Given the description of an element on the screen output the (x, y) to click on. 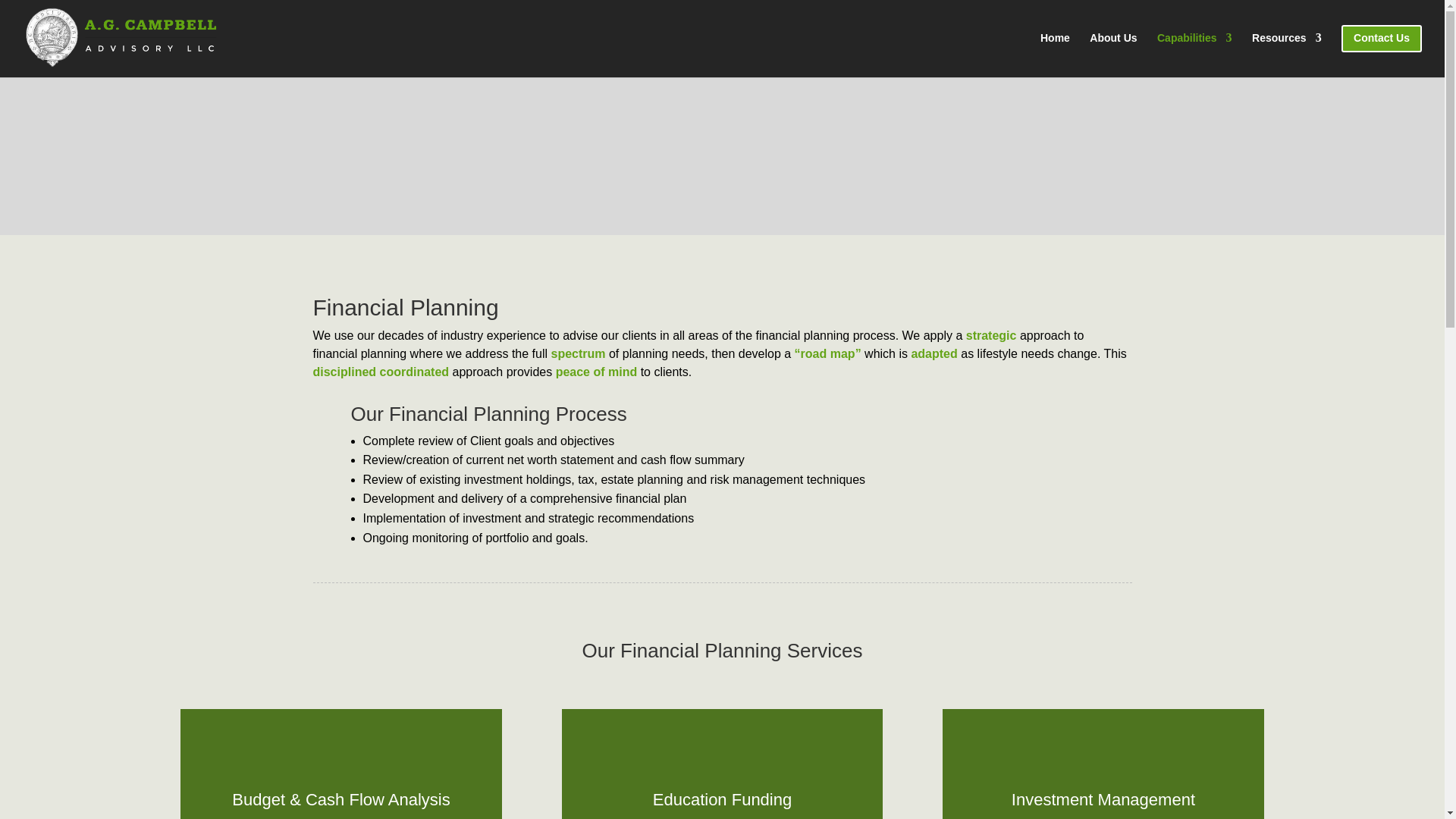
Resources (1287, 49)
Contact Us (1381, 50)
Capabilities (1194, 49)
About Us (1113, 49)
